Given the description of an element on the screen output the (x, y) to click on. 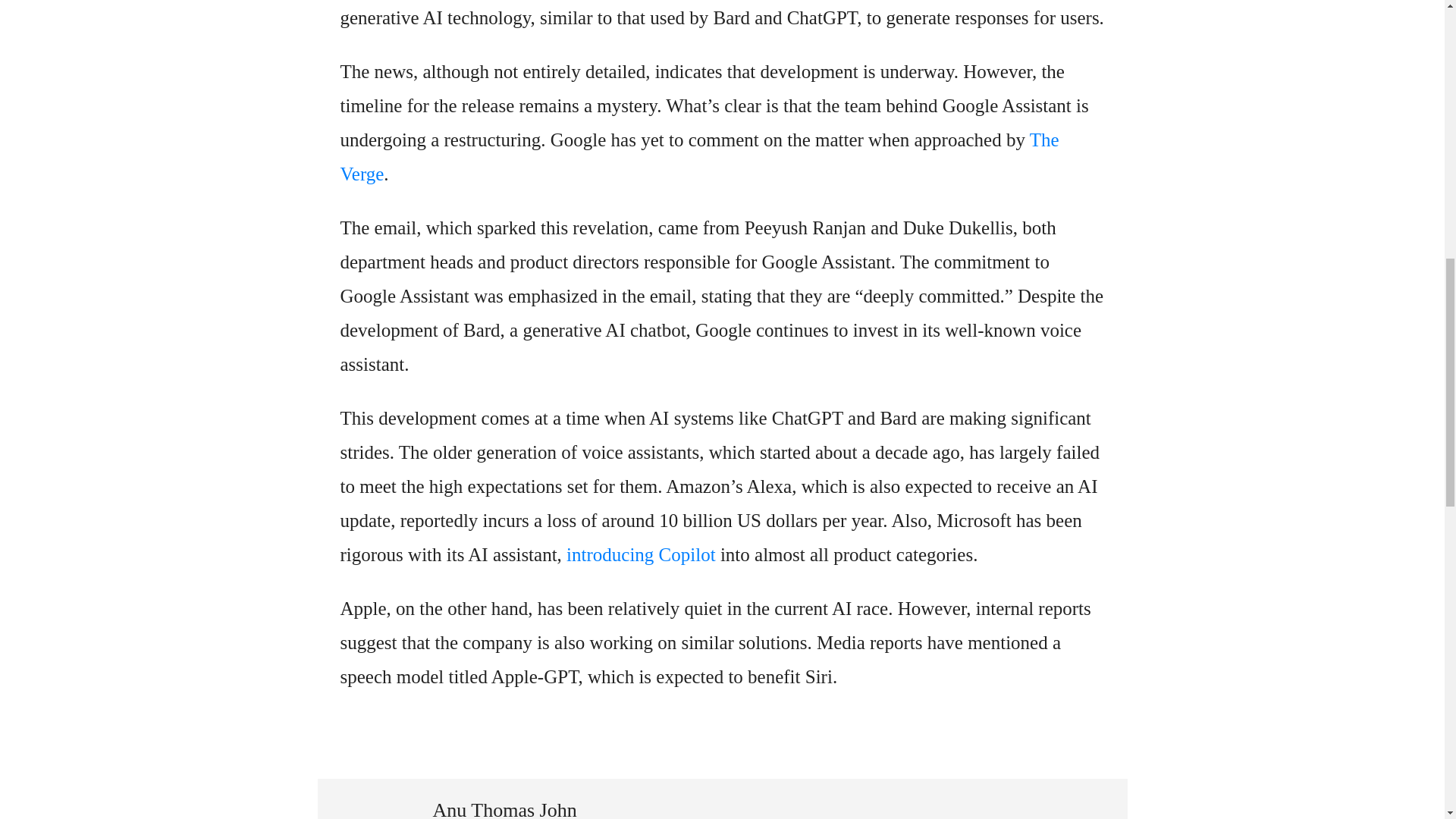
The Verge (698, 156)
